Given the description of an element on the screen output the (x, y) to click on. 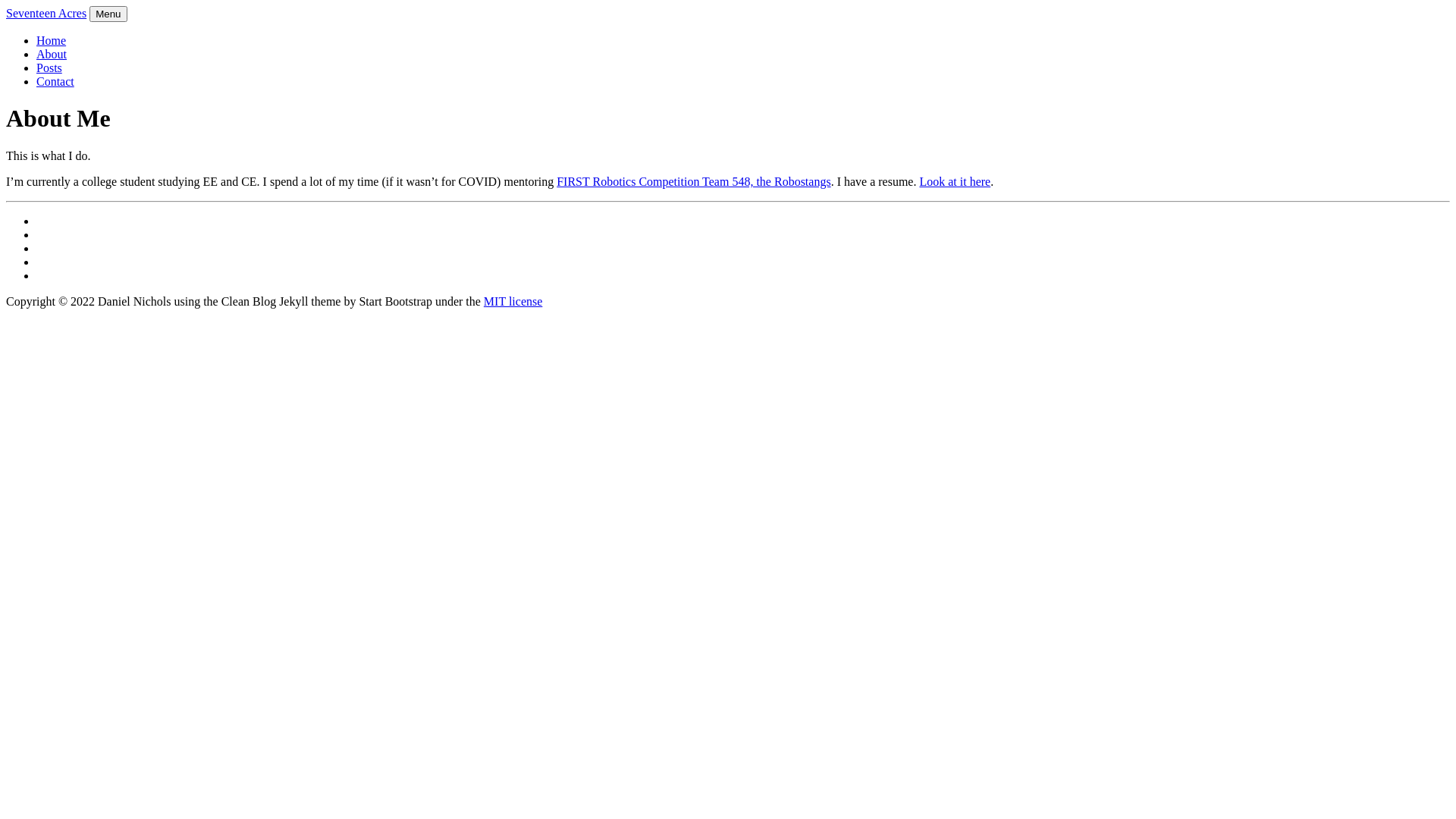
About Element type: text (51, 53)
Contact Element type: text (55, 81)
Look at it here Element type: text (954, 181)
MIT license Element type: text (512, 300)
Home Element type: text (50, 40)
Menu Element type: text (107, 13)
Posts Element type: text (49, 67)
Seventeen Acres Element type: text (46, 12)
FIRST Robotics Competition Team 548, the Robostangs Element type: text (693, 181)
